Given the description of an element on the screen output the (x, y) to click on. 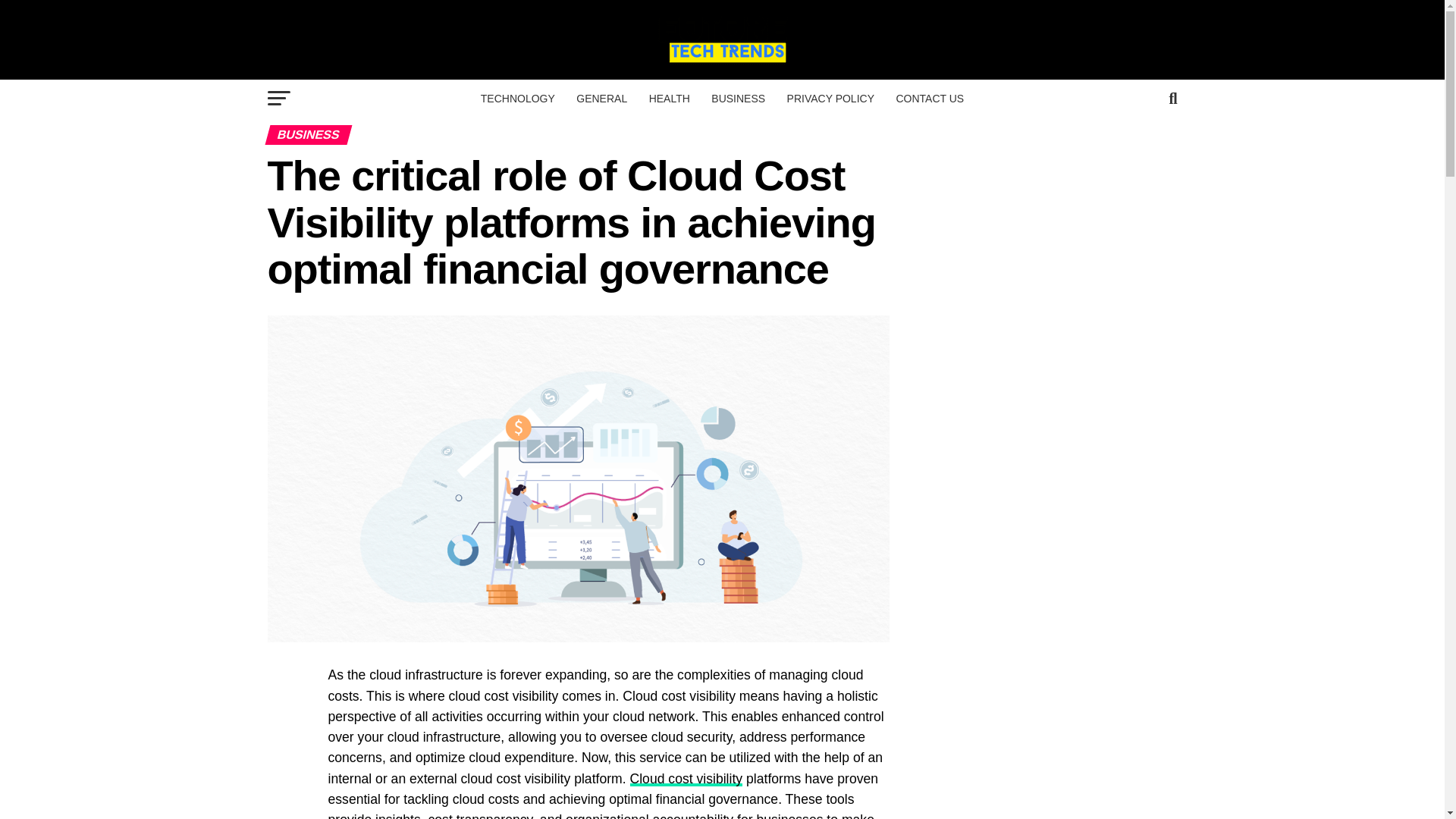
HEALTH (669, 98)
Cloud cost visibility (685, 778)
CONTACT US (929, 98)
GENERAL (601, 98)
TECHNOLOGY (517, 98)
BUSINESS (737, 98)
PRIVACY POLICY (830, 98)
